Given the description of an element on the screen output the (x, y) to click on. 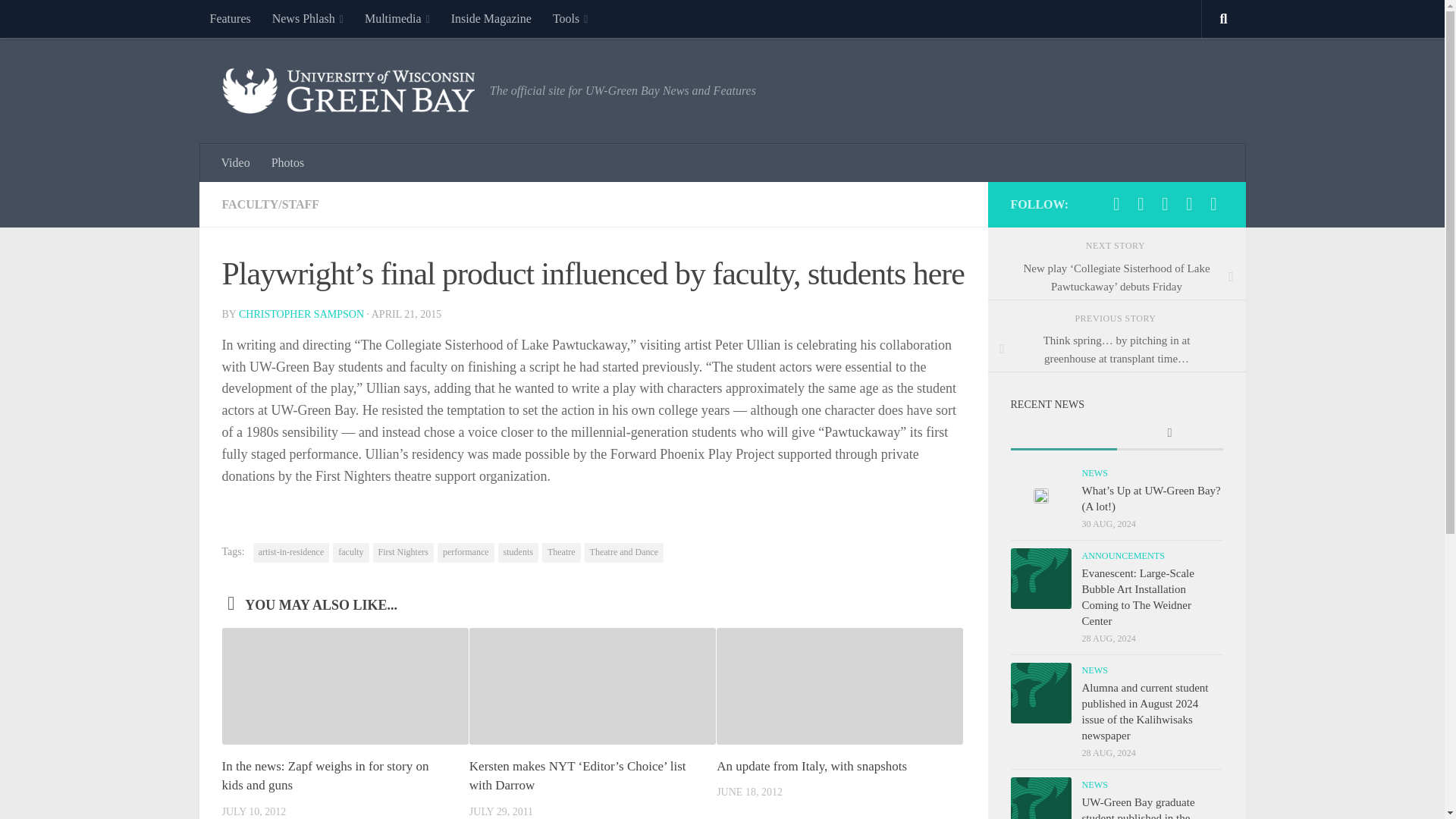
students (517, 552)
artist-in-residence (291, 552)
In the news: Zapf weighs in for story on kids and guns   (324, 776)
Inside Magazine (491, 18)
YouTube (1188, 203)
First Nighters (402, 552)
Email (1213, 203)
Features (229, 18)
Theatre and Dance (624, 552)
Facebook (1115, 203)
